Given the description of an element on the screen output the (x, y) to click on. 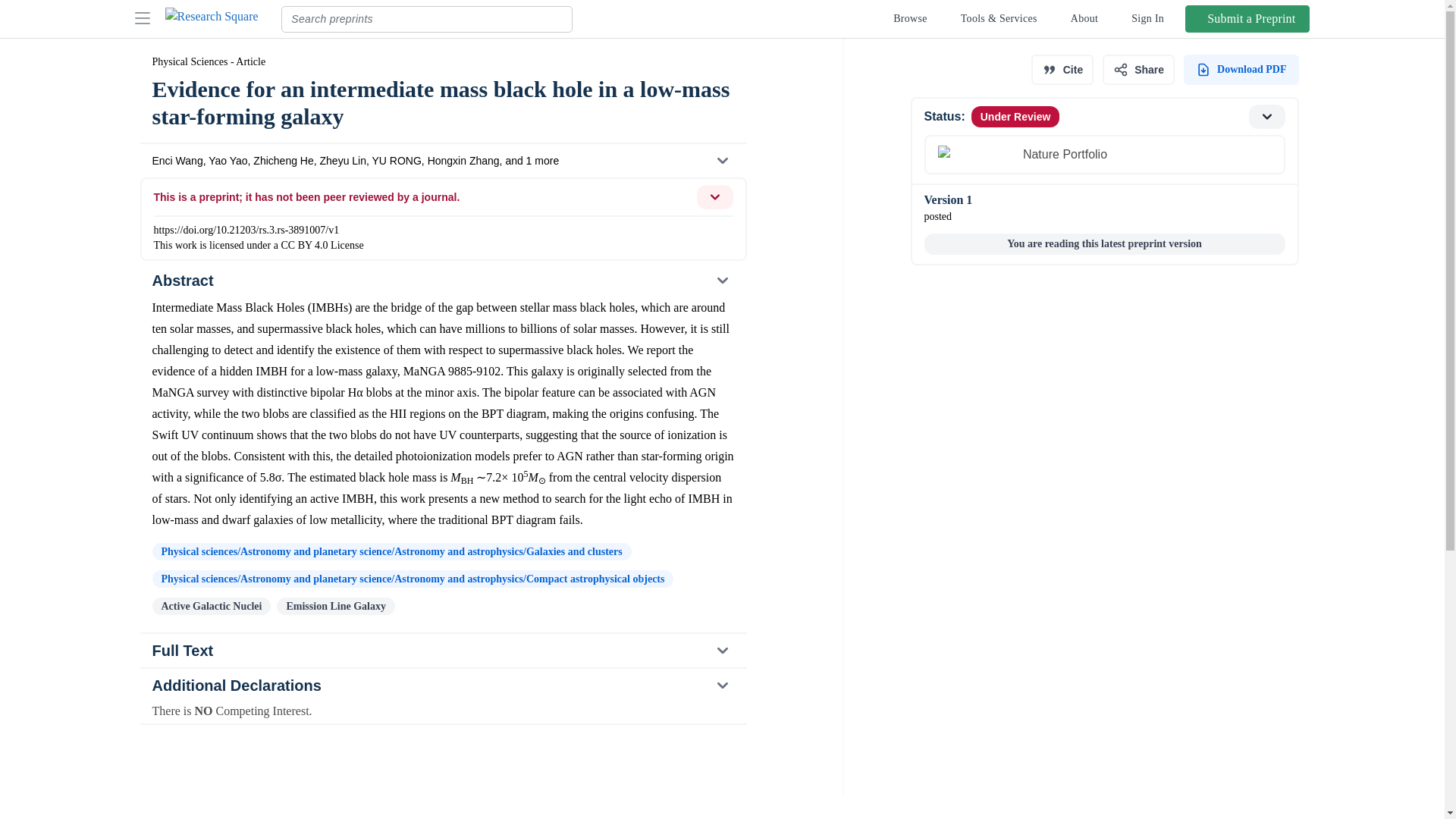
Additional Declarations (442, 685)
Share (1138, 69)
Cite (1061, 69)
Full Text (442, 650)
Abstract (442, 280)
PDF (1103, 140)
Submit a Preprint (1240, 69)
